Given the description of an element on the screen output the (x, y) to click on. 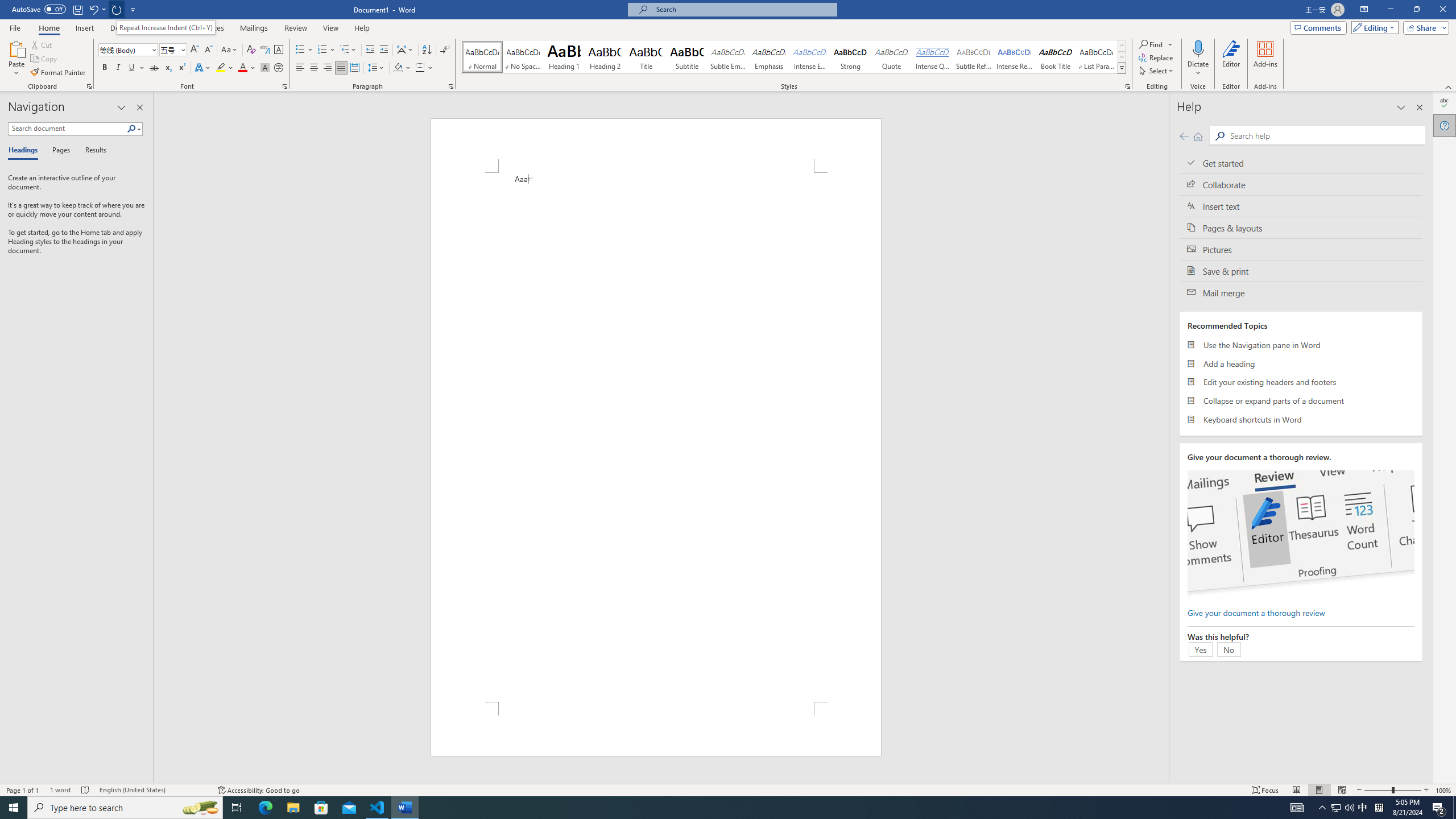
editor ui screenshot (1300, 533)
Undo Increase Indent (92, 9)
Keyboard shortcuts in Word (1300, 419)
